Given the description of an element on the screen output the (x, y) to click on. 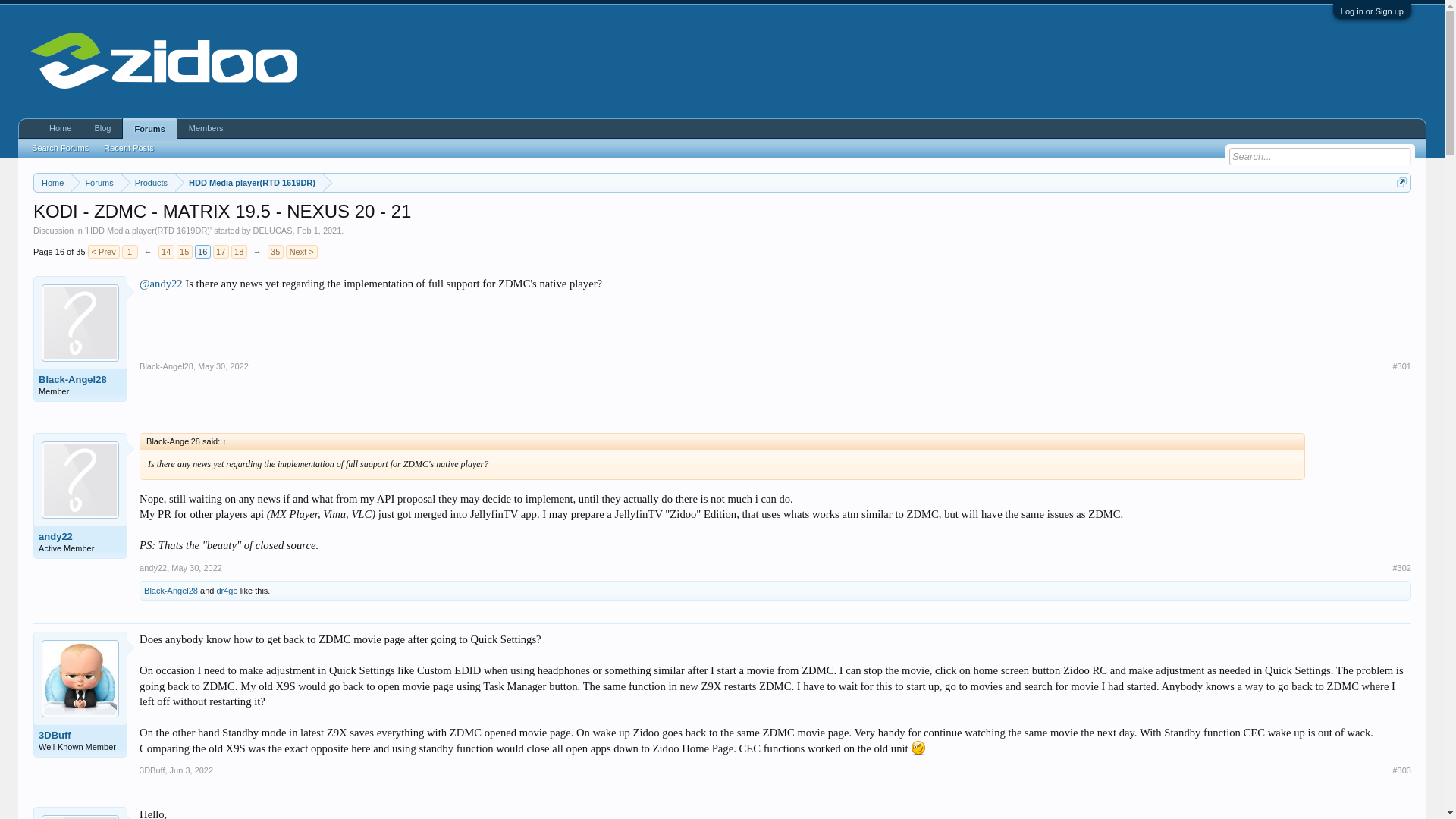
andy22 (153, 567)
Black-Angel28 (80, 379)
3DBuff (80, 735)
Black-Angel28 (171, 590)
Black-Angel28 (166, 366)
dr4go (226, 590)
Forums (95, 182)
16 (203, 251)
Home (52, 182)
17 (220, 251)
